Given the description of an element on the screen output the (x, y) to click on. 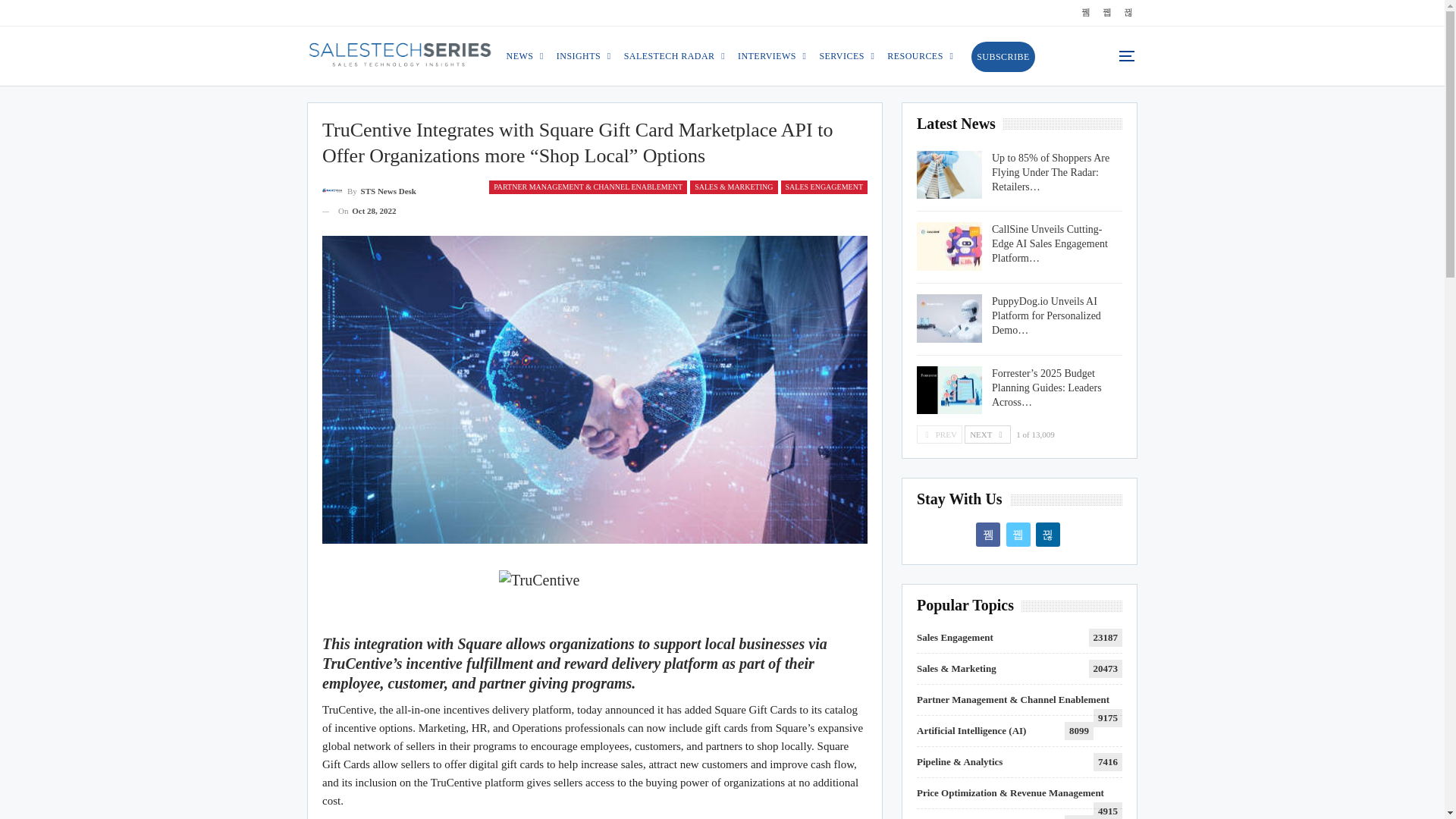
Browse Author Articles (368, 189)
